Given the description of an element on the screen output the (x, y) to click on. 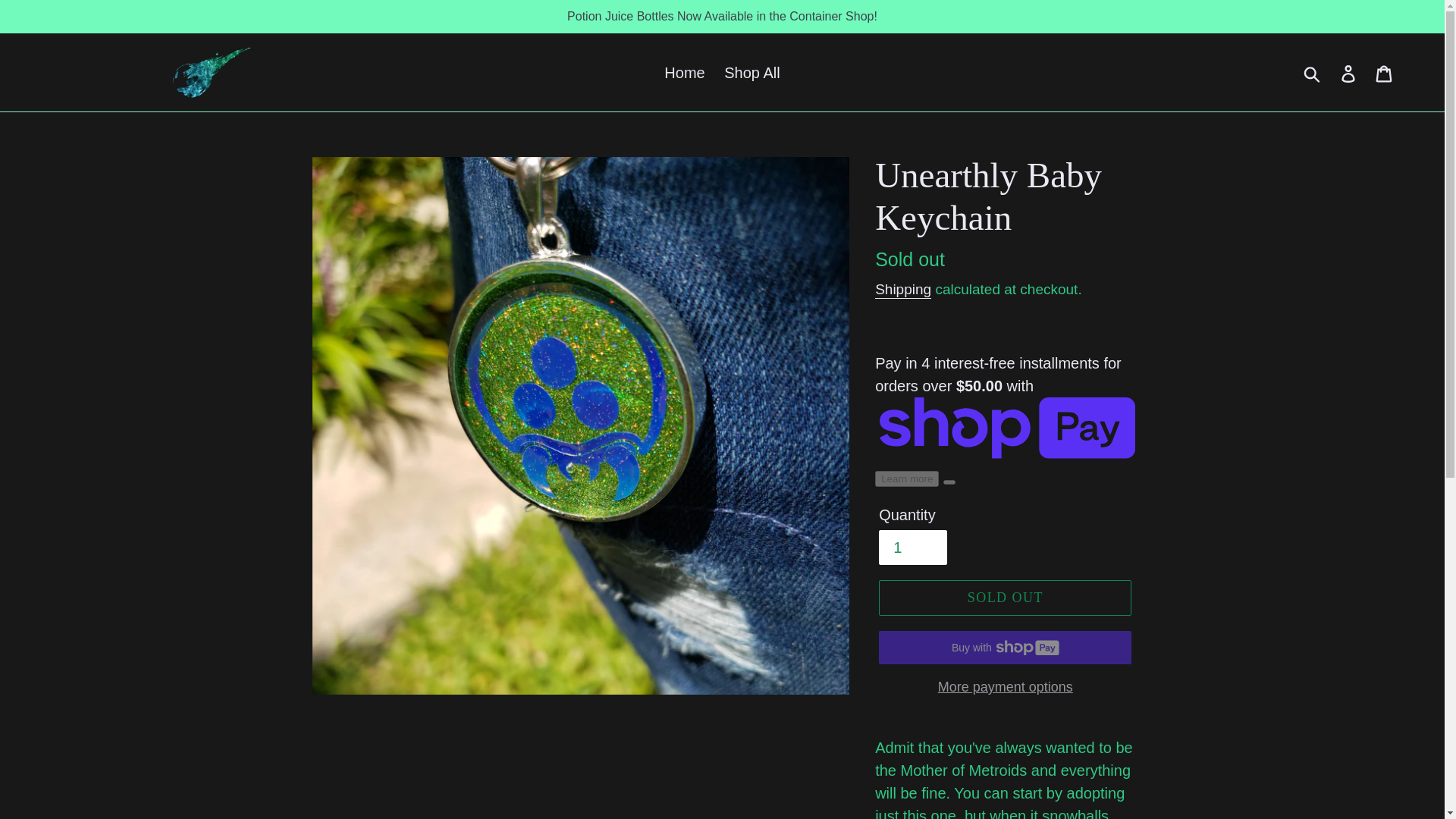
Home (683, 72)
Shop All (751, 72)
Log in (1349, 71)
Cart (1385, 71)
Submit (1313, 71)
1 (913, 547)
More payment options (1005, 687)
Shipping (903, 289)
SOLD OUT (1005, 597)
